Given the description of an element on the screen output the (x, y) to click on. 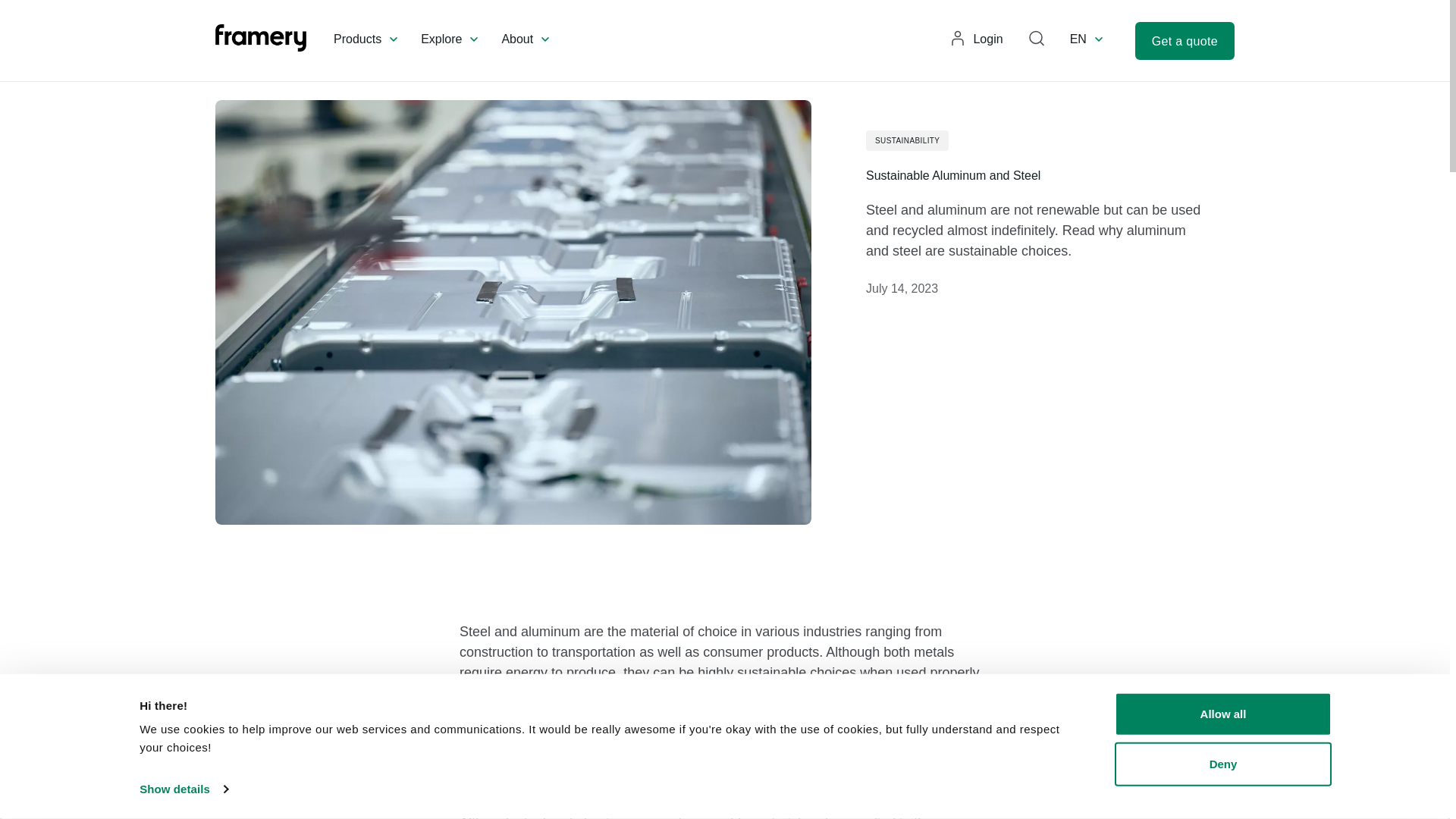
Show details (183, 789)
